Given the description of an element on the screen output the (x, y) to click on. 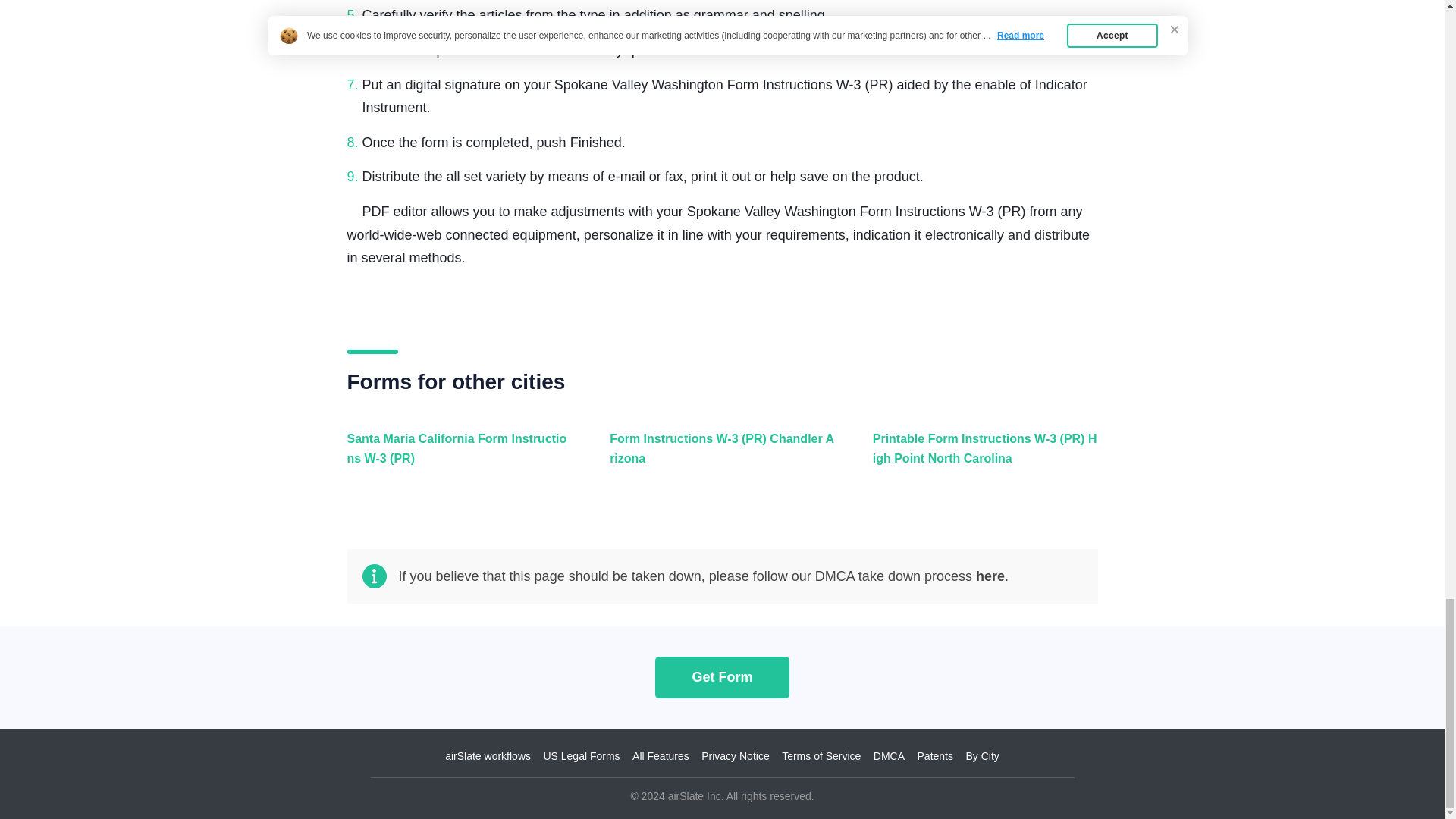
US Legal Forms (581, 756)
By City (981, 756)
airSlate workflows (488, 756)
DMCA (888, 756)
here (989, 575)
Patents (935, 756)
All Features (659, 756)
Terms of Service (820, 756)
Get Form (722, 676)
Privacy Notice (734, 756)
